Given the description of an element on the screen output the (x, y) to click on. 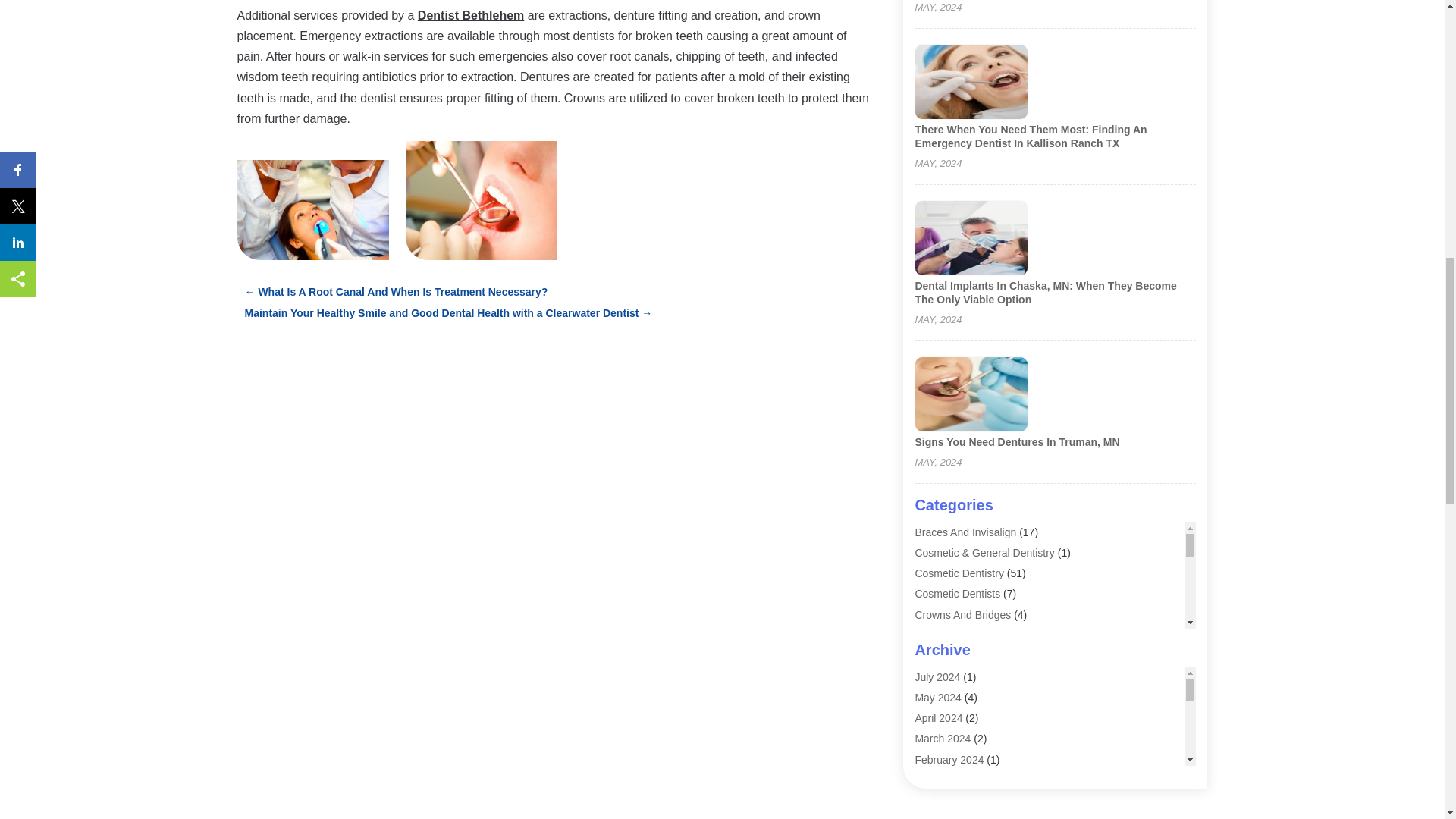
Crowns And Bridges (962, 614)
Dental Emergency (957, 655)
Cosmetic Dentistry (958, 573)
Dental Implants (951, 676)
Cosmetic Dentists (957, 593)
Dental Caries (946, 635)
Signs You Need Dentures In Truman, MN (1016, 441)
Braces And Invisalign (965, 532)
